Given the description of an element on the screen output the (x, y) to click on. 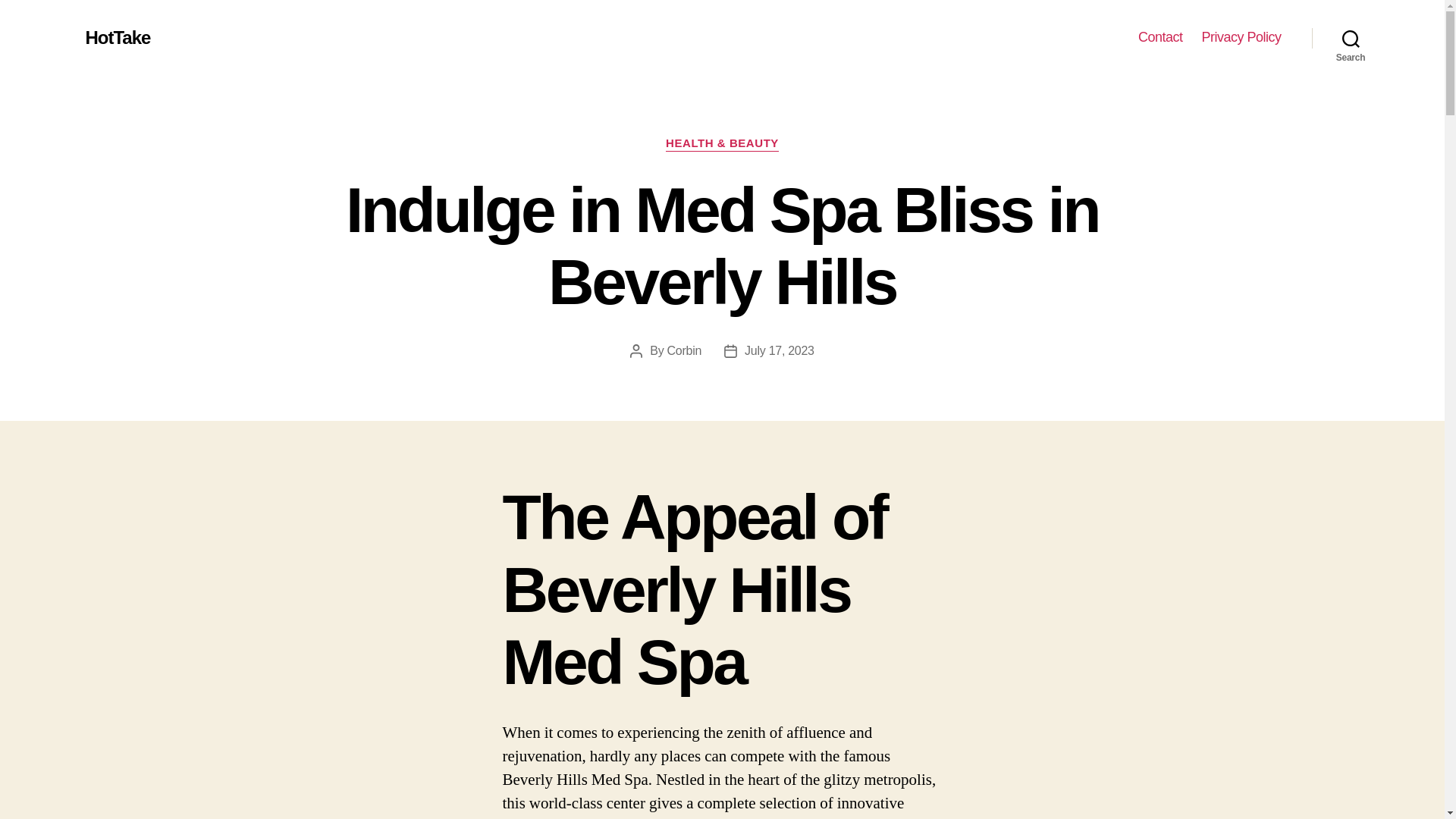
Privacy Policy (1241, 37)
Contact (1160, 37)
HotTake (116, 37)
July 17, 2023 (778, 350)
Corbin (683, 350)
Search (1350, 37)
